Given the description of an element on the screen output the (x, y) to click on. 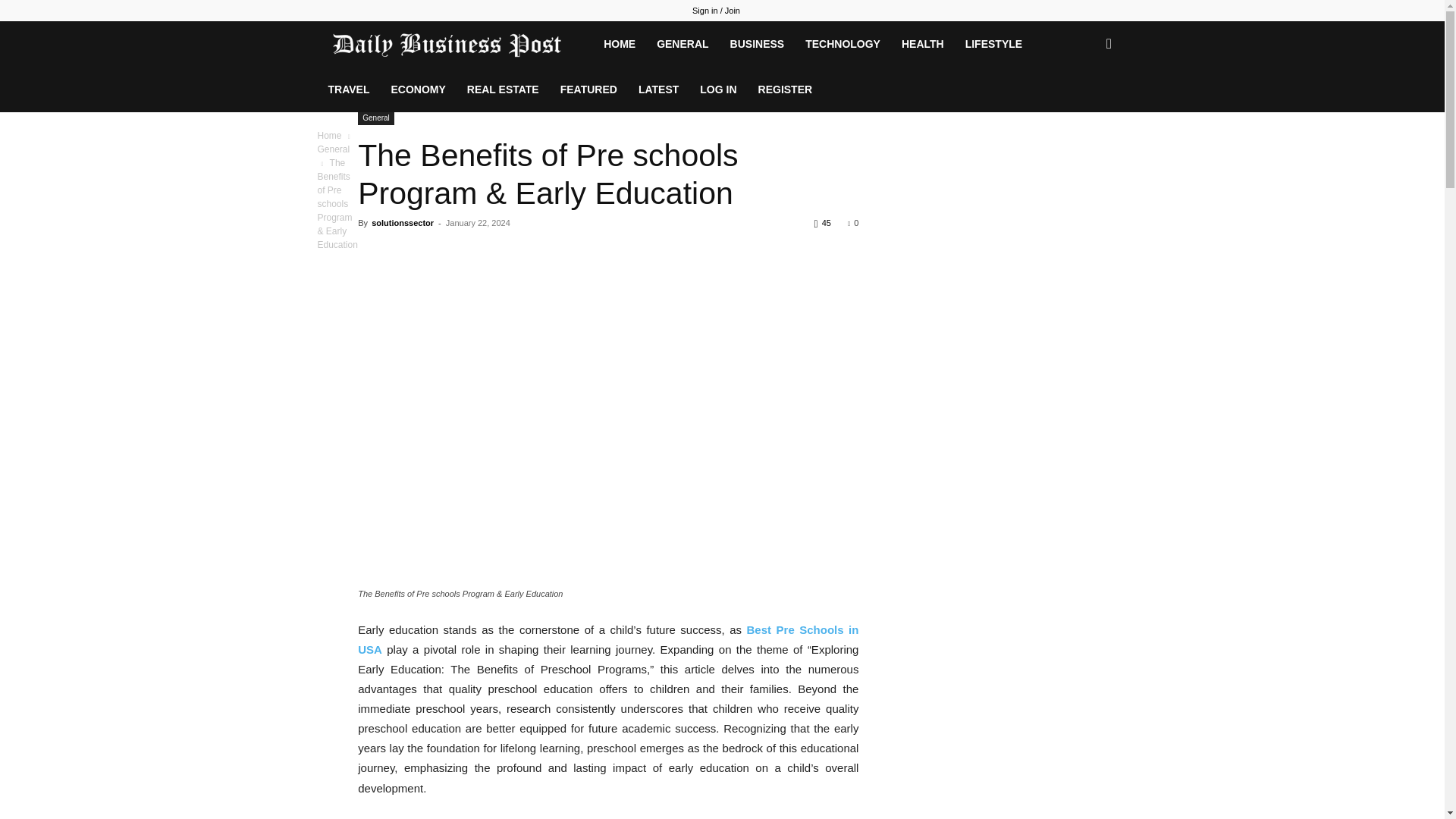
ECONOMY (417, 89)
LIFESTYLE (993, 43)
REGISTER (786, 89)
FEATURED (588, 89)
LATEST (657, 89)
HOME (619, 43)
HEALTH (923, 43)
TECHNOLOGY (842, 43)
TRAVEL (348, 89)
Search (1085, 109)
